Given the description of an element on the screen output the (x, y) to click on. 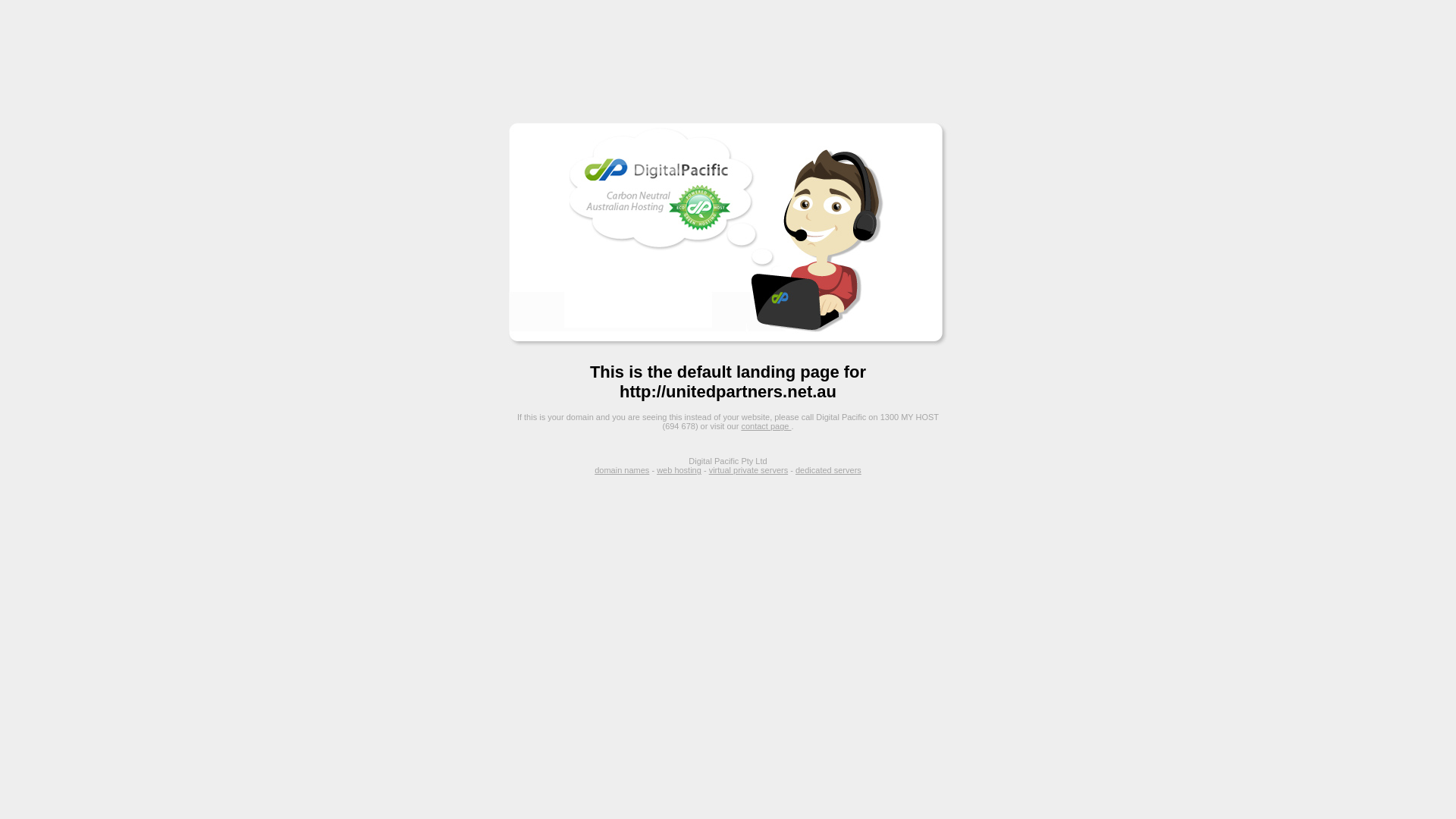
contact page Element type: text (765, 425)
dedicated servers Element type: text (828, 469)
virtual private servers Element type: text (748, 469)
domain names Element type: text (621, 469)
web hosting Element type: text (678, 469)
